Given the description of an element on the screen output the (x, y) to click on. 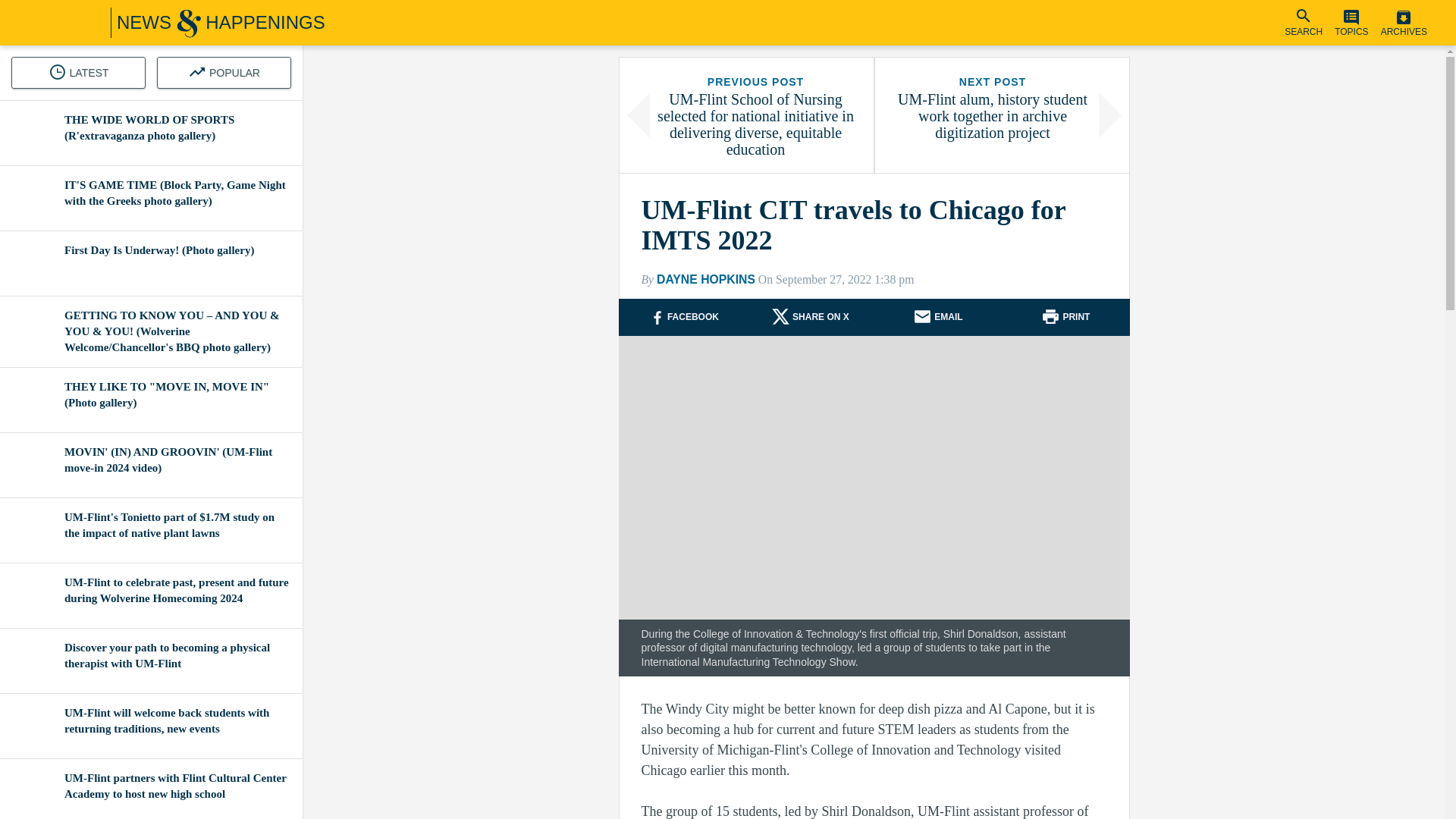
UM-Flint Homepage (42, 22)
Share this on X (820, 317)
Email this article (948, 317)
Go to topics directory (1350, 22)
Go to umflint.edu (42, 22)
Search the UM-Flint NOW site (1303, 22)
Share this on Facebook (692, 317)
Explore our archives (1404, 22)
